Given the description of an element on the screen output the (x, y) to click on. 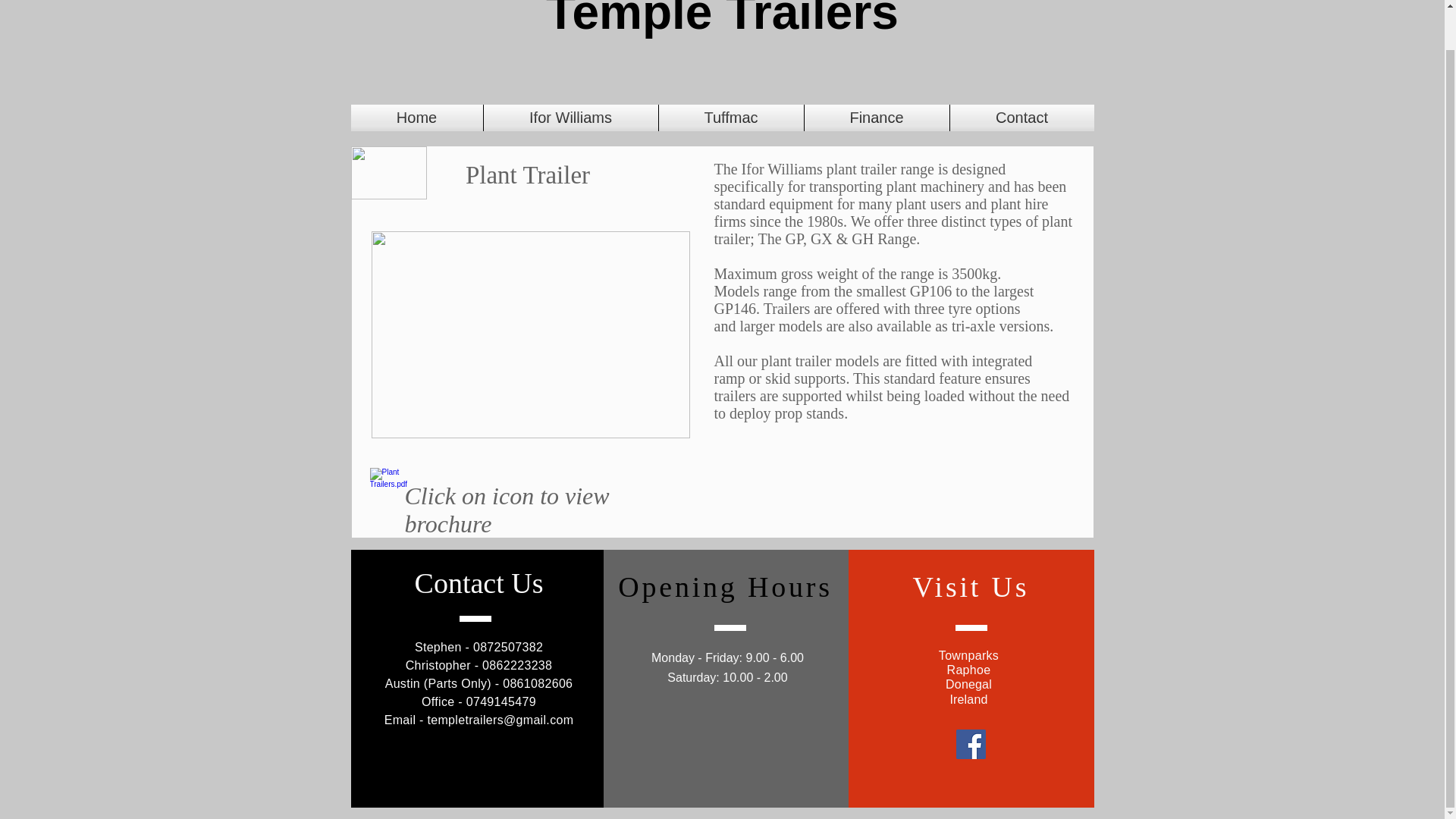
Contact (1021, 117)
Temple Trailers (722, 19)
Plant Trailers.pdf (384, 487)
Ifor Williams (570, 117)
Tuffmac (730, 117)
Finance (876, 117)
Home (415, 117)
